Given the description of an element on the screen output the (x, y) to click on. 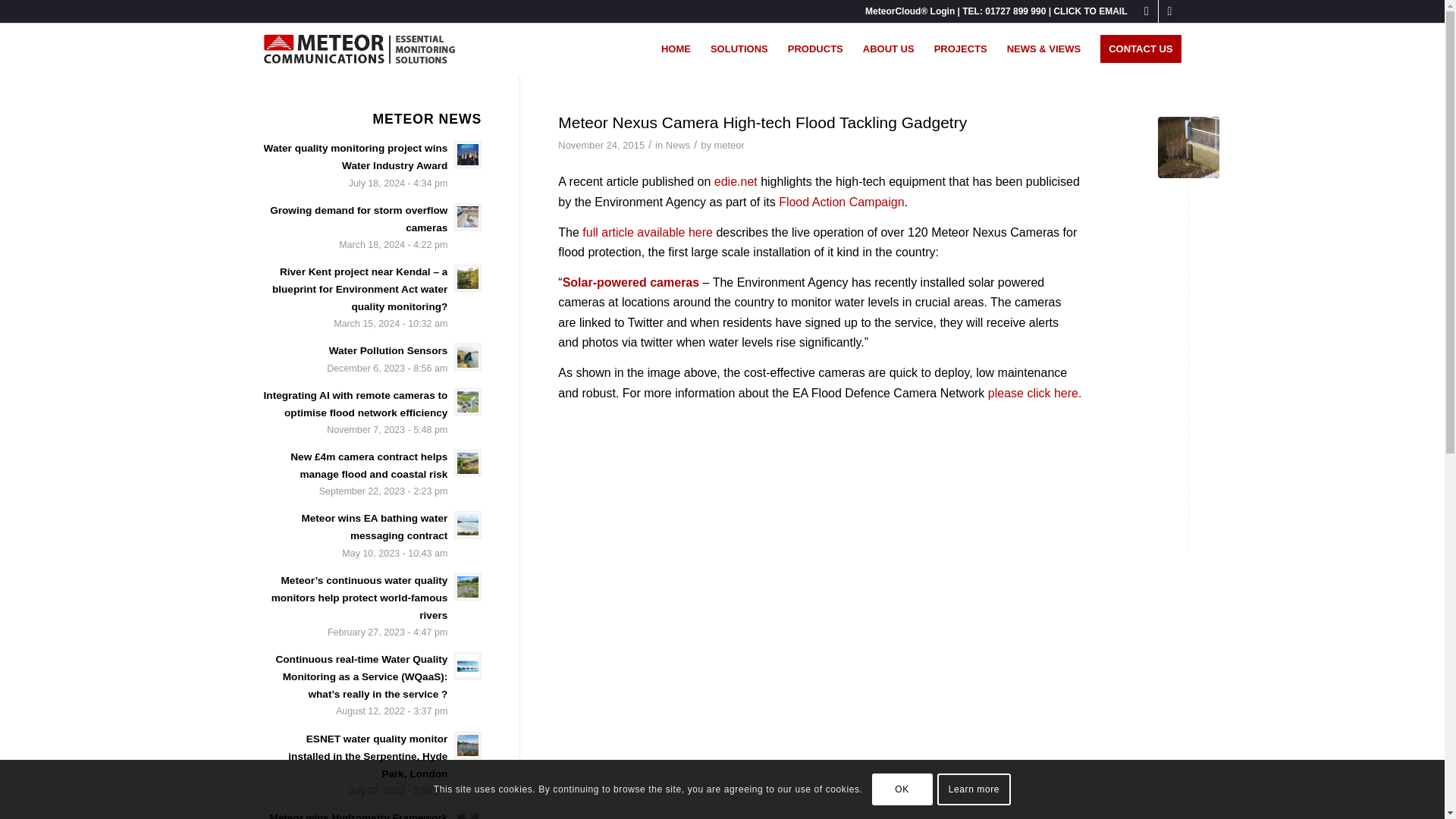
edie.net article (735, 181)
Meteor Nexus Camera showing ease of installation (1187, 147)
Twitter (1169, 11)
01727 899 990 (1015, 10)
msol-2 (360, 49)
PROJECTS (960, 49)
HOME (675, 49)
Read: Growing demand for storm overflow cameras (357, 218)
CONTACT US (1135, 49)
